Given the description of an element on the screen output the (x, y) to click on. 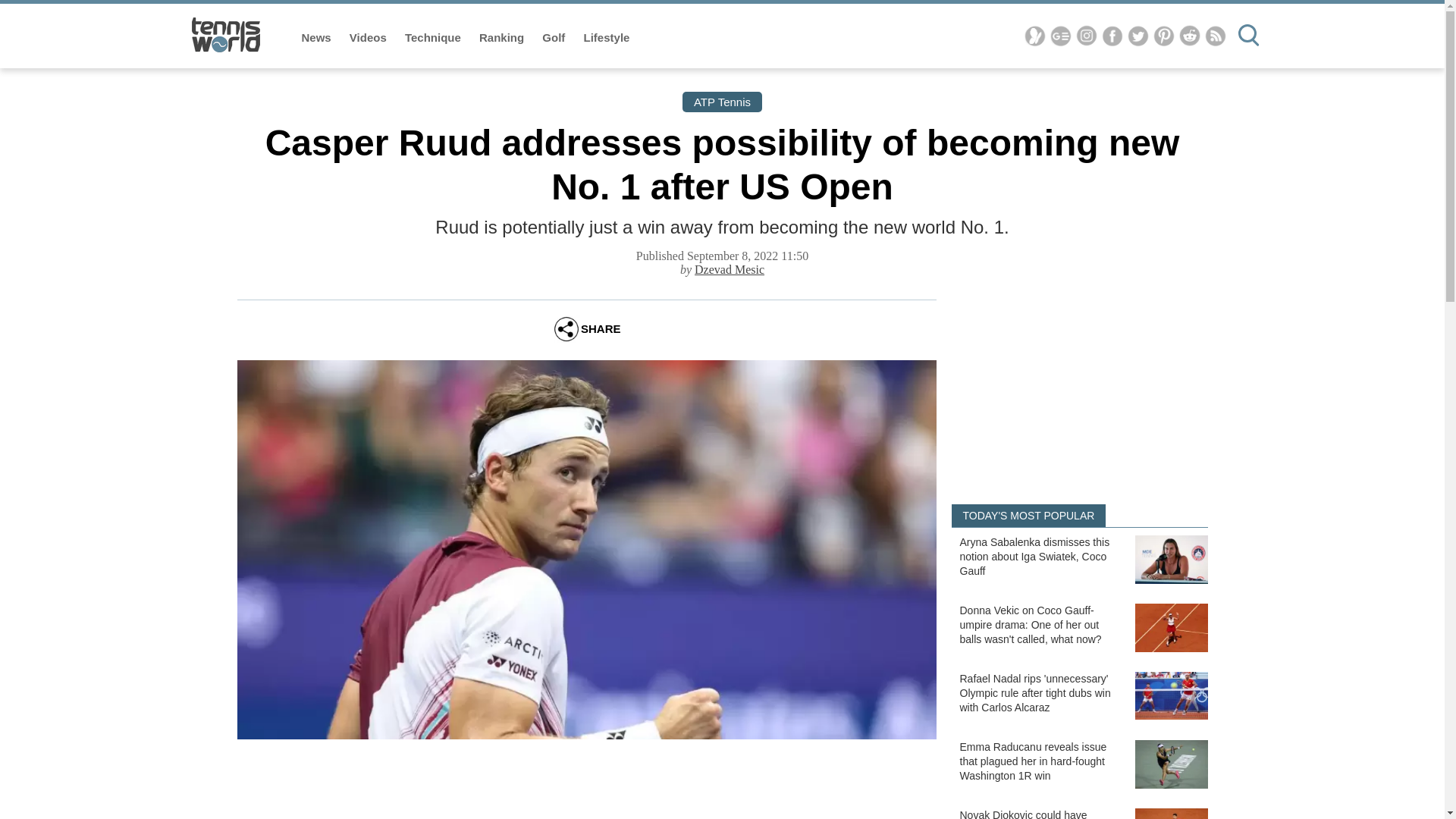
Lifestyle (606, 37)
Golf (554, 37)
News (317, 37)
Technique (434, 37)
Videos (369, 37)
Ranking (503, 37)
